Given the description of an element on the screen output the (x, y) to click on. 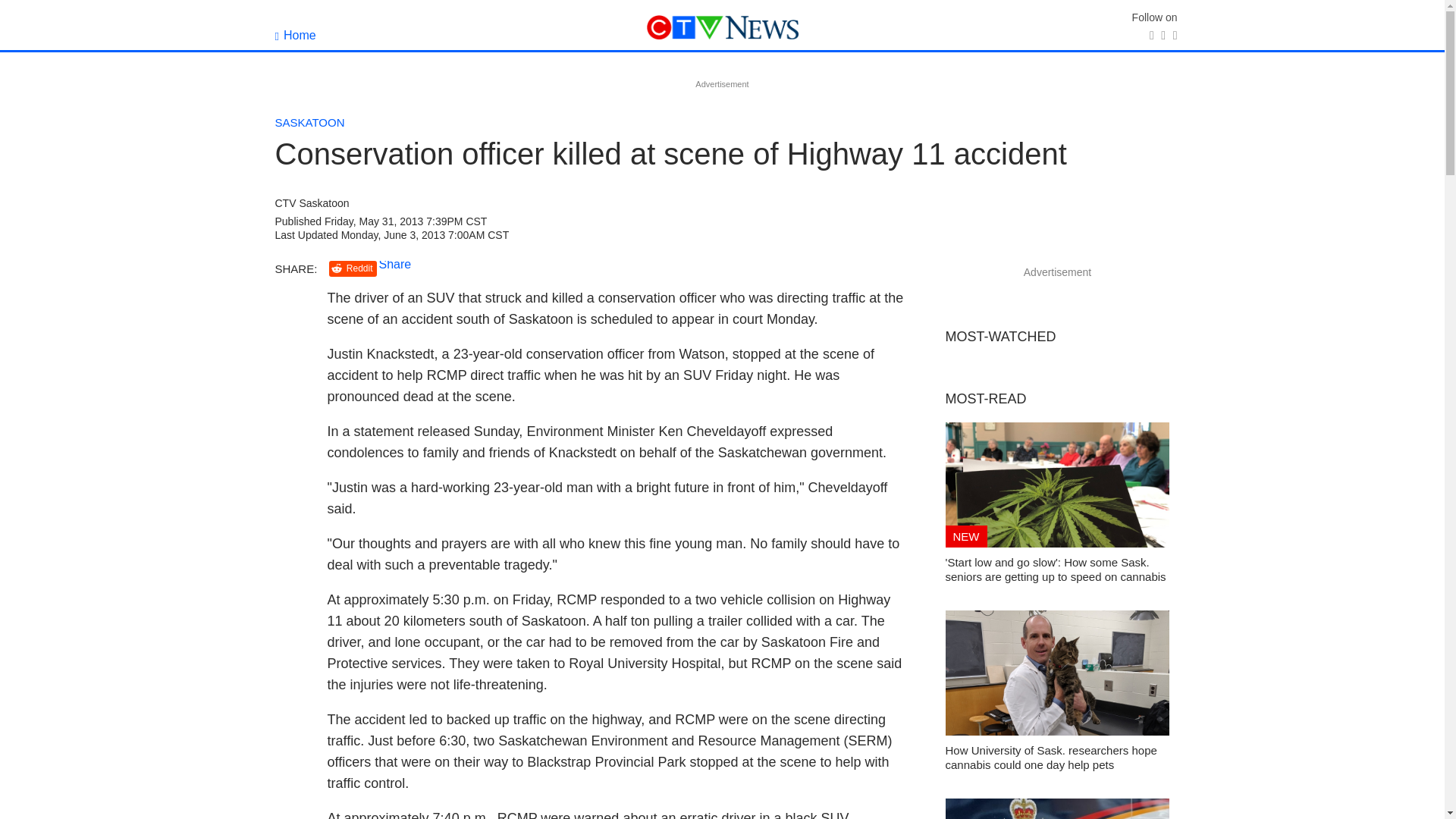
SASKATOON (309, 122)
Home (295, 34)
Reddit (353, 268)
Share (395, 264)
